Given the description of an element on the screen output the (x, y) to click on. 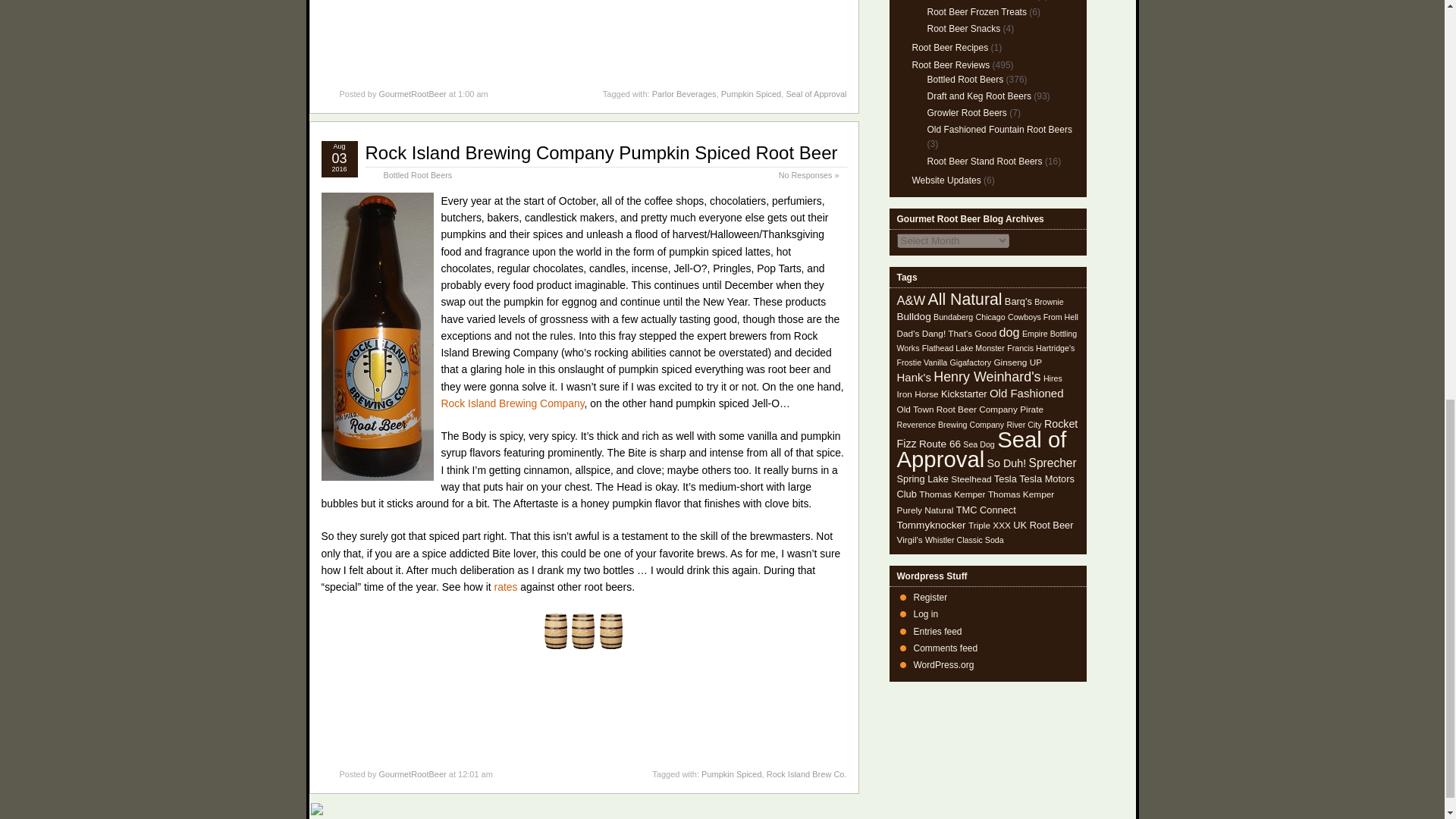
Rock Island Brewing Company (513, 403)
Rock Island Brew Co. (807, 773)
Seal of Approval (815, 93)
rates (506, 586)
GourmetRootBeer (411, 93)
Parlor Beverages (684, 93)
Pumpkin Spiced (750, 93)
Rock Island Brewing Company Pumpkin Spiced Root Beer (601, 152)
Pumpkin Spiced (731, 773)
Bottled Root Beers (418, 174)
